Given the description of an element on the screen output the (x, y) to click on. 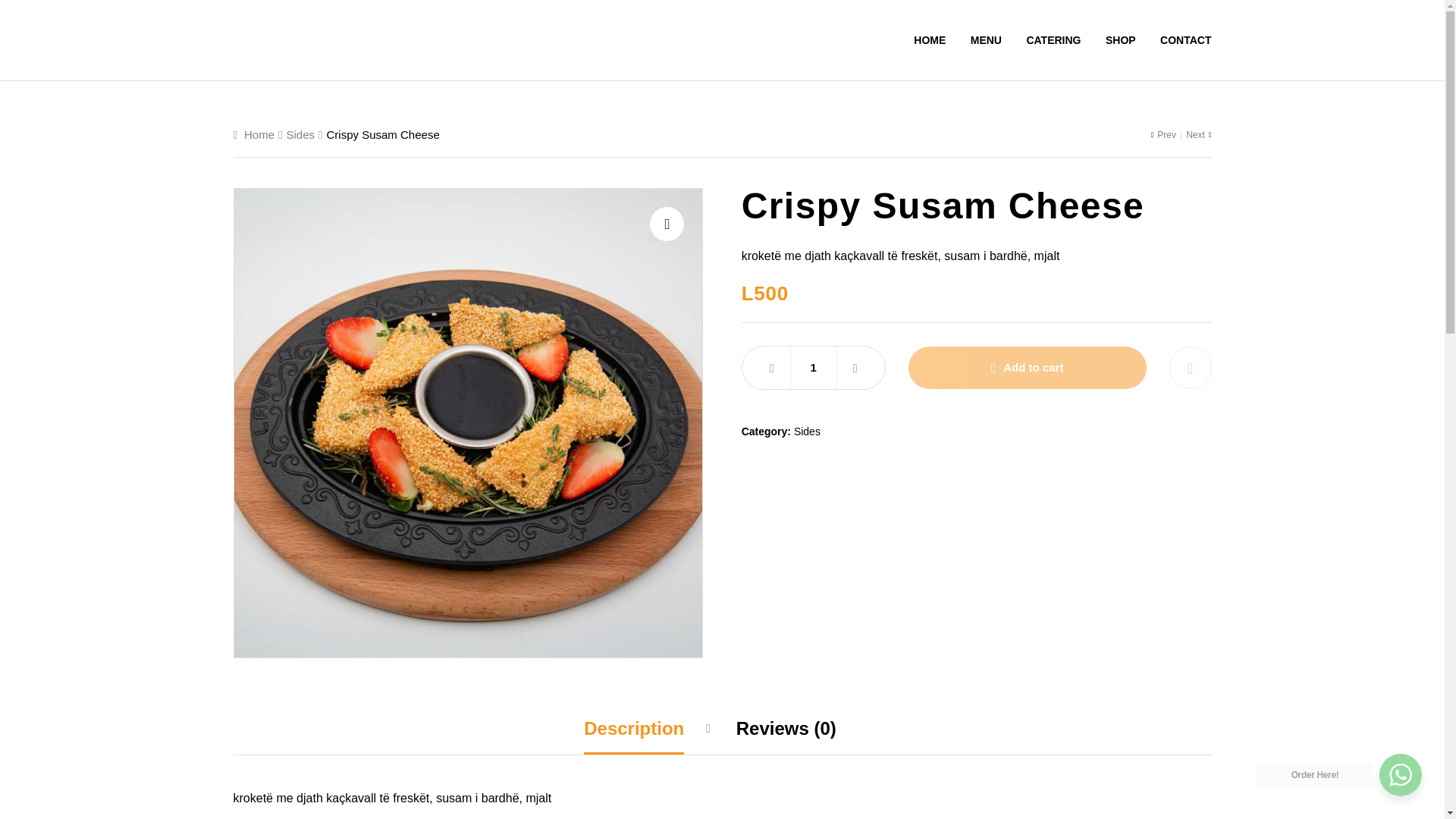
Sides (299, 133)
Add to cart (1027, 367)
MENU (985, 39)
1 (812, 367)
Add to wishlist (1190, 367)
Next (1195, 134)
SHOP (1120, 39)
Description (633, 728)
Home (259, 133)
CATERING (1052, 39)
CONTACT (1180, 39)
HOME (929, 39)
Prev (1163, 134)
Sides (807, 431)
